Given the description of an element on the screen output the (x, y) to click on. 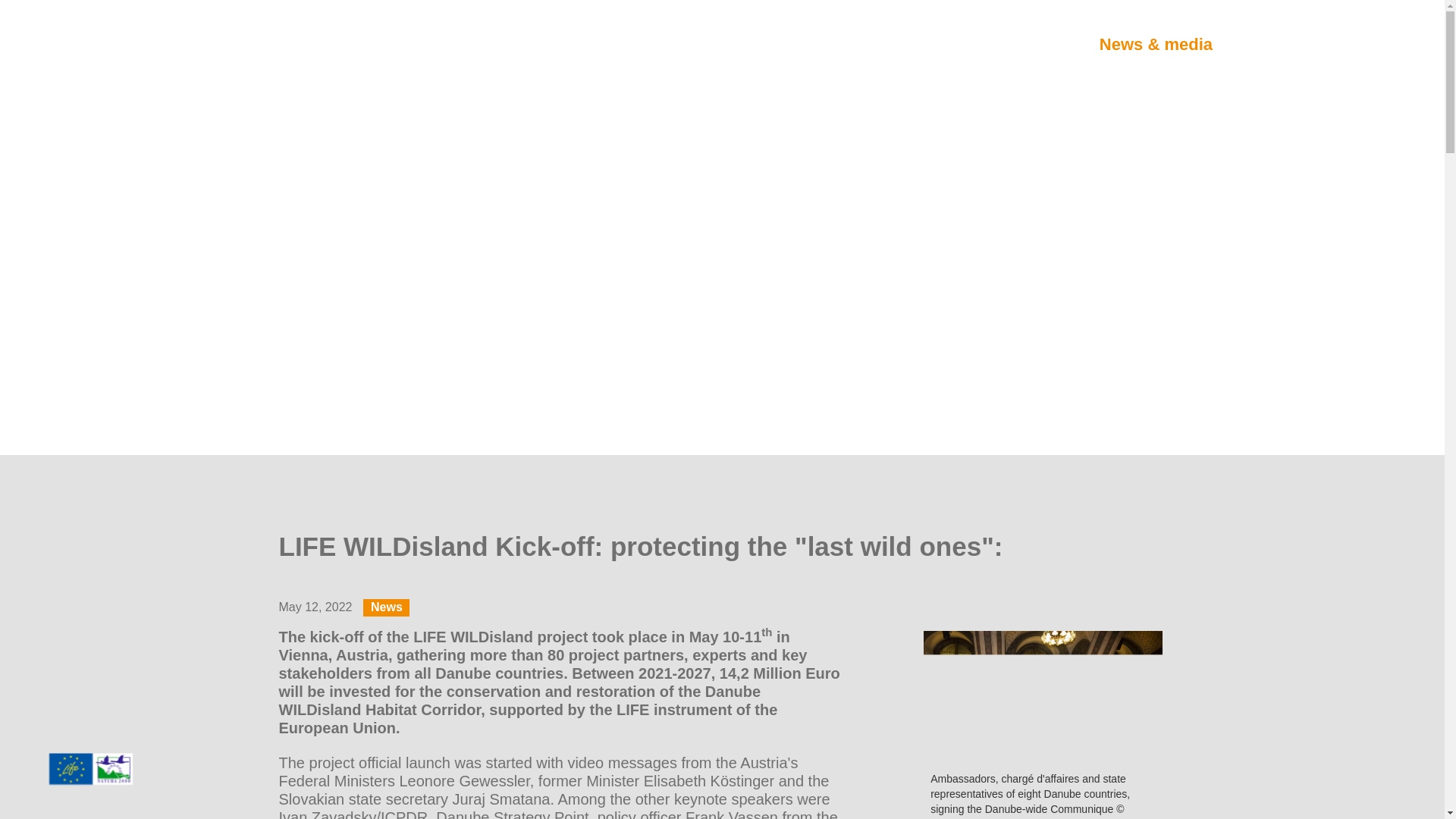
Contacts (1278, 43)
Our actions (861, 43)
WILDislands (734, 43)
WILDisland map (1004, 43)
Danubeparks - network of protected areas (139, 44)
